Given the description of an element on the screen output the (x, y) to click on. 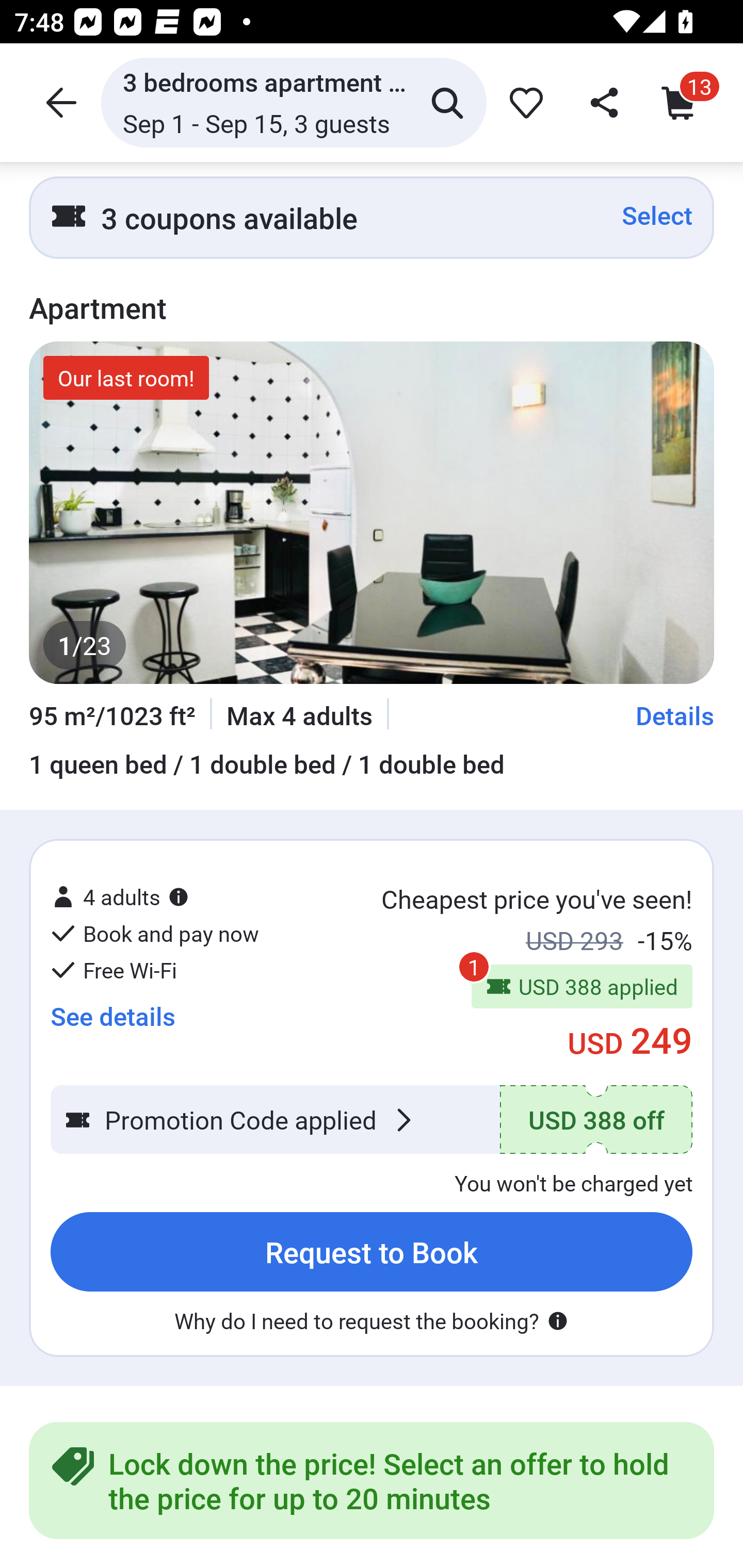
header icon (59, 102)
favorite_icon 0dbe6efb (522, 102)
share_header_icon (601, 102)
Cart icon cart_item_count 13 (683, 102)
Select (656, 215)
3 coupons available Select (371, 217)
image (371, 512)
Details (674, 715)
4 adults (119, 896)
See details (112, 1015)
Promotion Code applied USD 388 off (371, 1120)
Request to Book (371, 1251)
Why do I need to request the booking? (371, 1320)
